Given the description of an element on the screen output the (x, y) to click on. 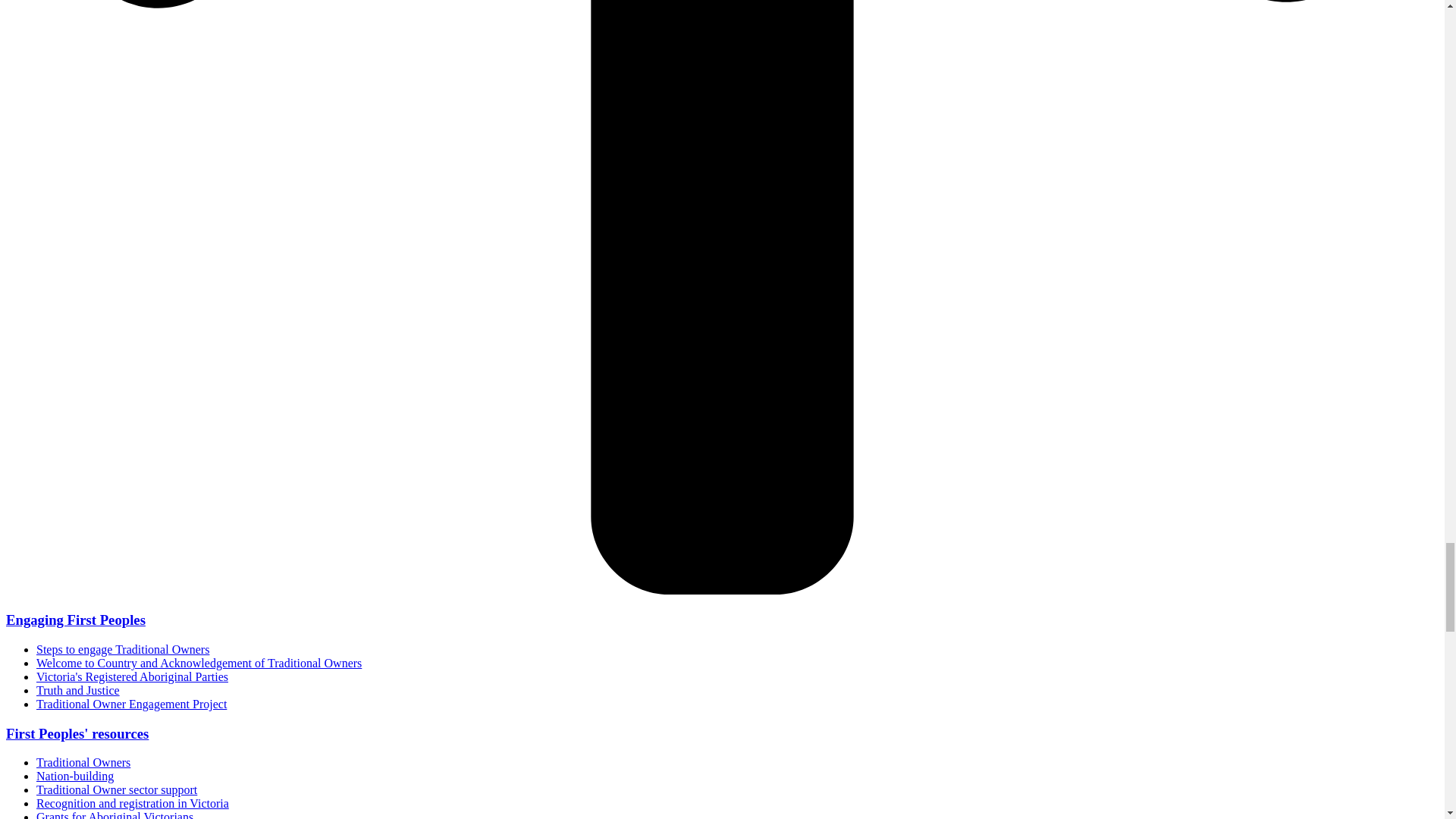
Engaging First Peoples (75, 619)
Traditional Owners (83, 762)
Traditional Owner sector support (116, 789)
Victoria's Registered Aboriginal Parties (132, 676)
Steps to engage Traditional Owners (122, 649)
Nation-building (74, 775)
Traditional Owner Engagement Project (131, 703)
Welcome to Country and Acknowledgement of Traditional Owners (198, 662)
First Peoples' resources (76, 732)
Grants for Aboriginal Victorians (114, 814)
